Given the description of an element on the screen output the (x, y) to click on. 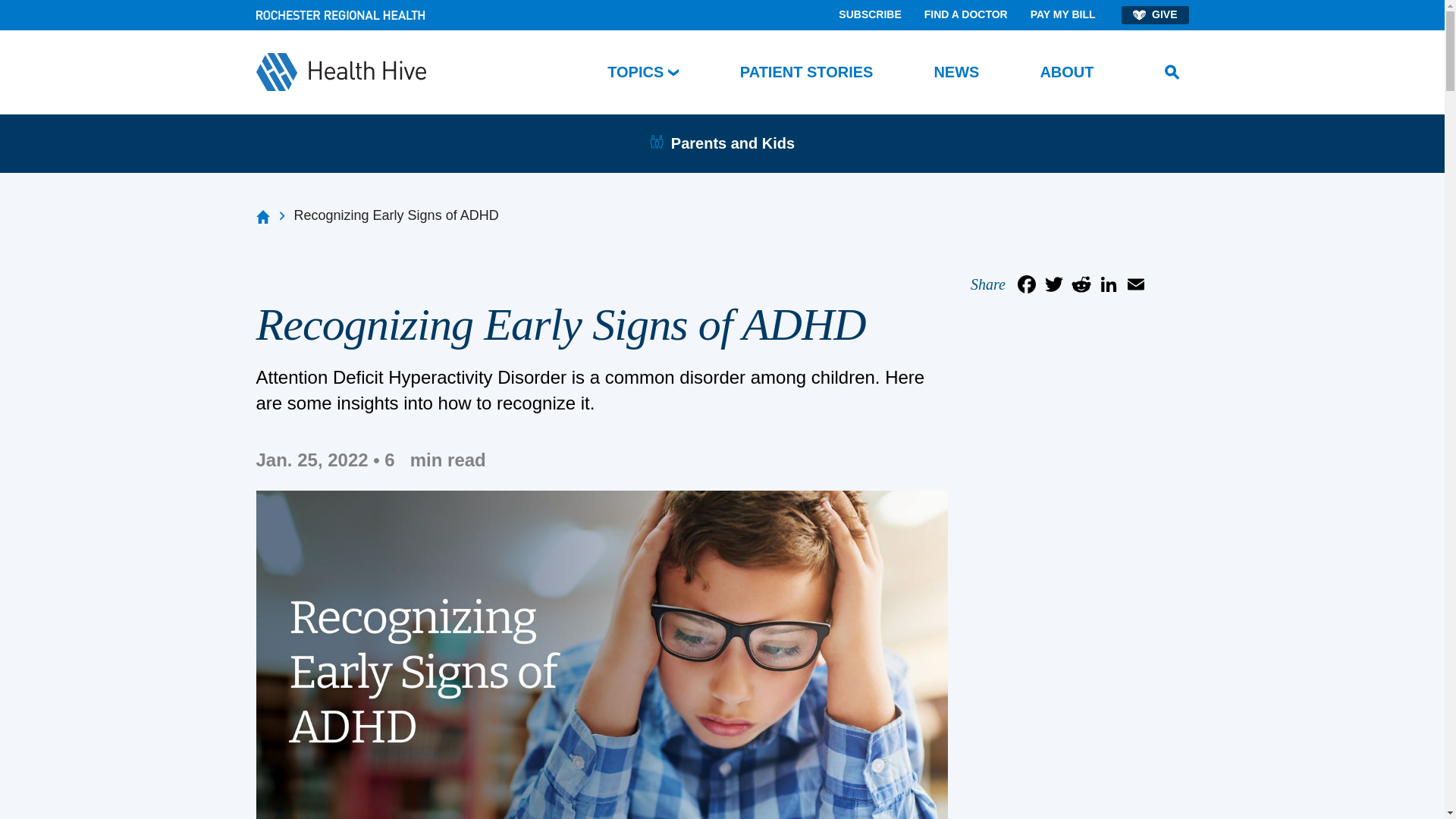
ABOUT (1066, 72)
Email (1136, 283)
SUBSCRIBE (869, 15)
PAY MY BILL (1063, 15)
LinkedIn (1108, 283)
Twitter (1054, 283)
FIND A DOCTOR (965, 15)
GIVE (1154, 14)
Reddit (1080, 283)
NEWS (955, 72)
Facebook (1027, 283)
PATIENT STORIES (806, 72)
Parents and Kids (732, 143)
